Given the description of an element on the screen output the (x, y) to click on. 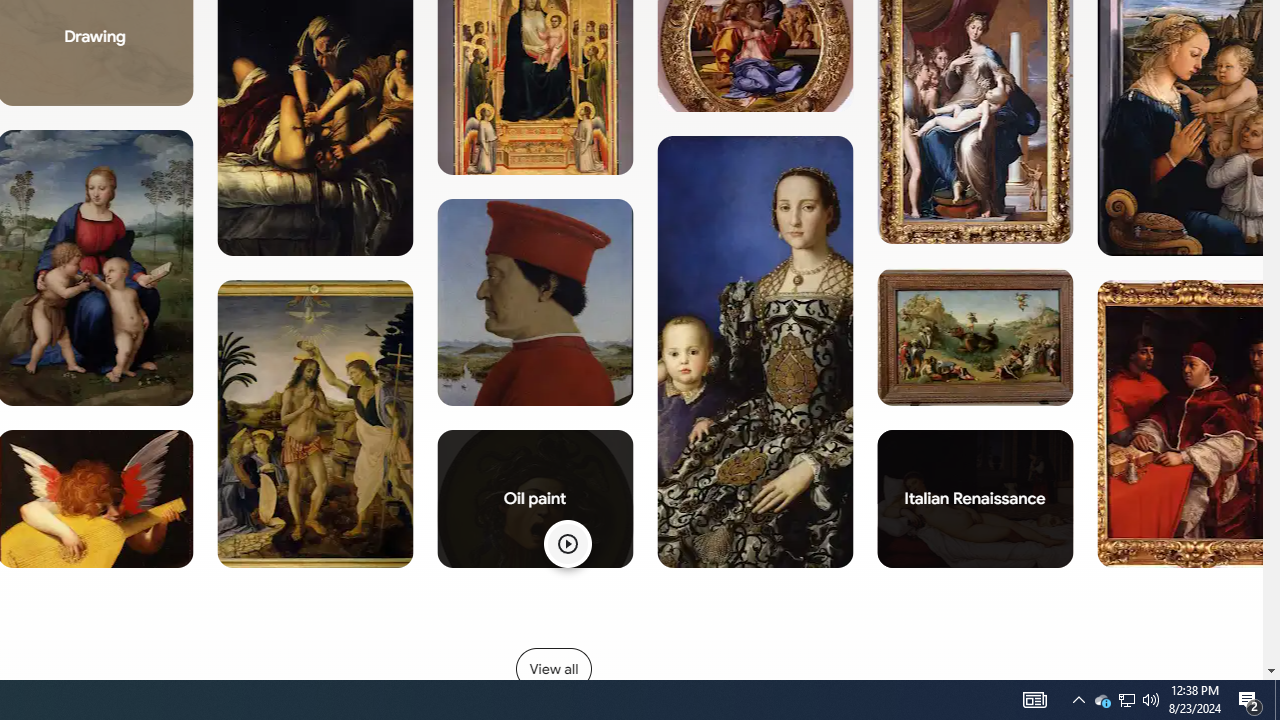
View all (553, 668)
Resume animation (566, 543)
